Given the description of an element on the screen output the (x, y) to click on. 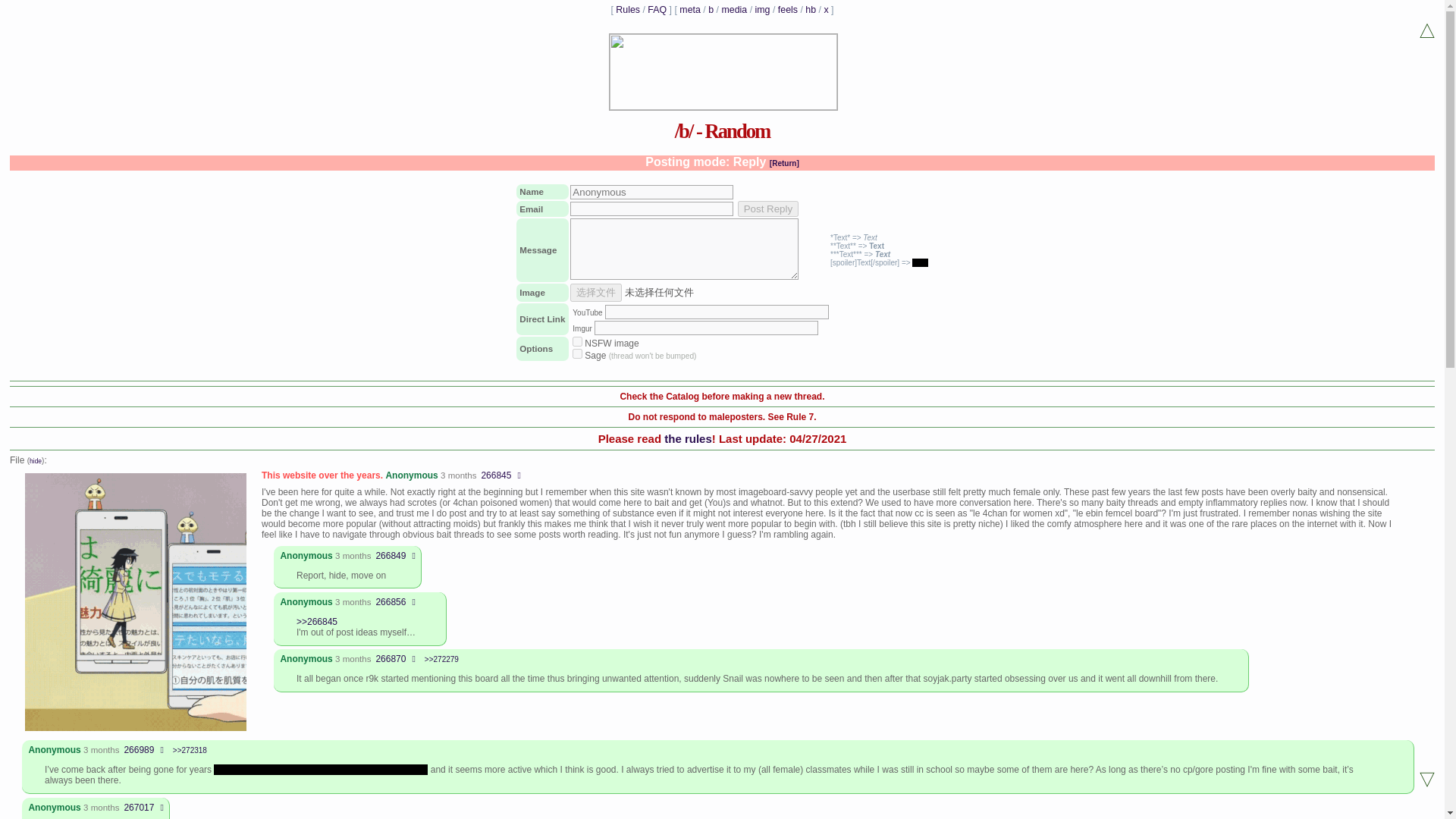
media (733, 9)
hb (810, 9)
3 months (458, 474)
feels (787, 9)
266989 (138, 749)
3 months (352, 601)
Only use this field if you wish to be contacted (651, 208)
Post Reply (767, 208)
267017 (138, 807)
Post Reply (767, 208)
3 months (100, 807)
hide (35, 461)
3 months (352, 555)
FAQ (656, 9)
266849 (390, 555)
